Given the description of an element on the screen output the (x, y) to click on. 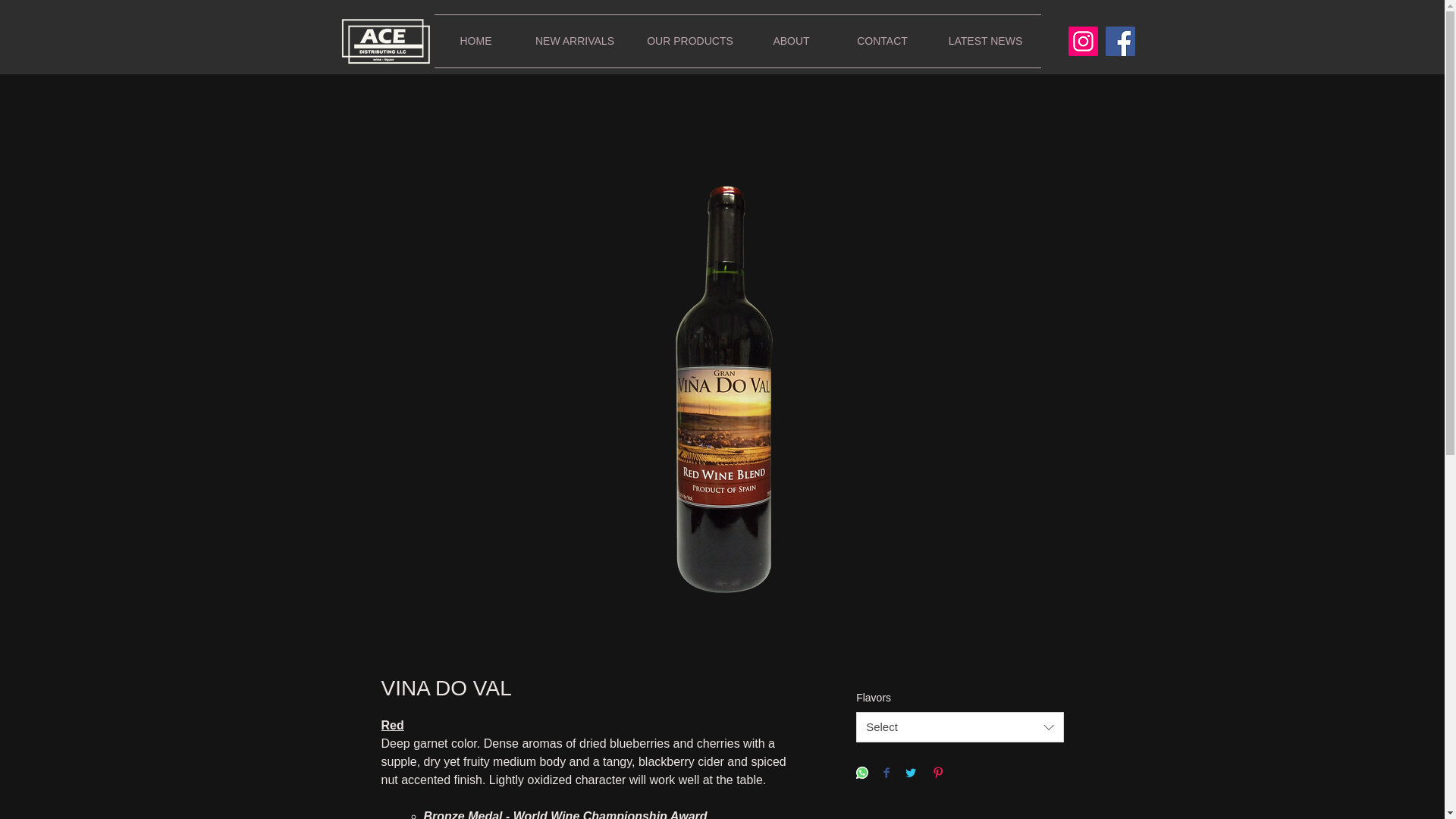
NEW ARRIVALS (573, 40)
Select (959, 726)
HOME (474, 40)
ABOUT (791, 40)
OUR PRODUCTS (689, 40)
LATEST NEWS (985, 40)
CONTACT (882, 40)
